Given the description of an element on the screen output the (x, y) to click on. 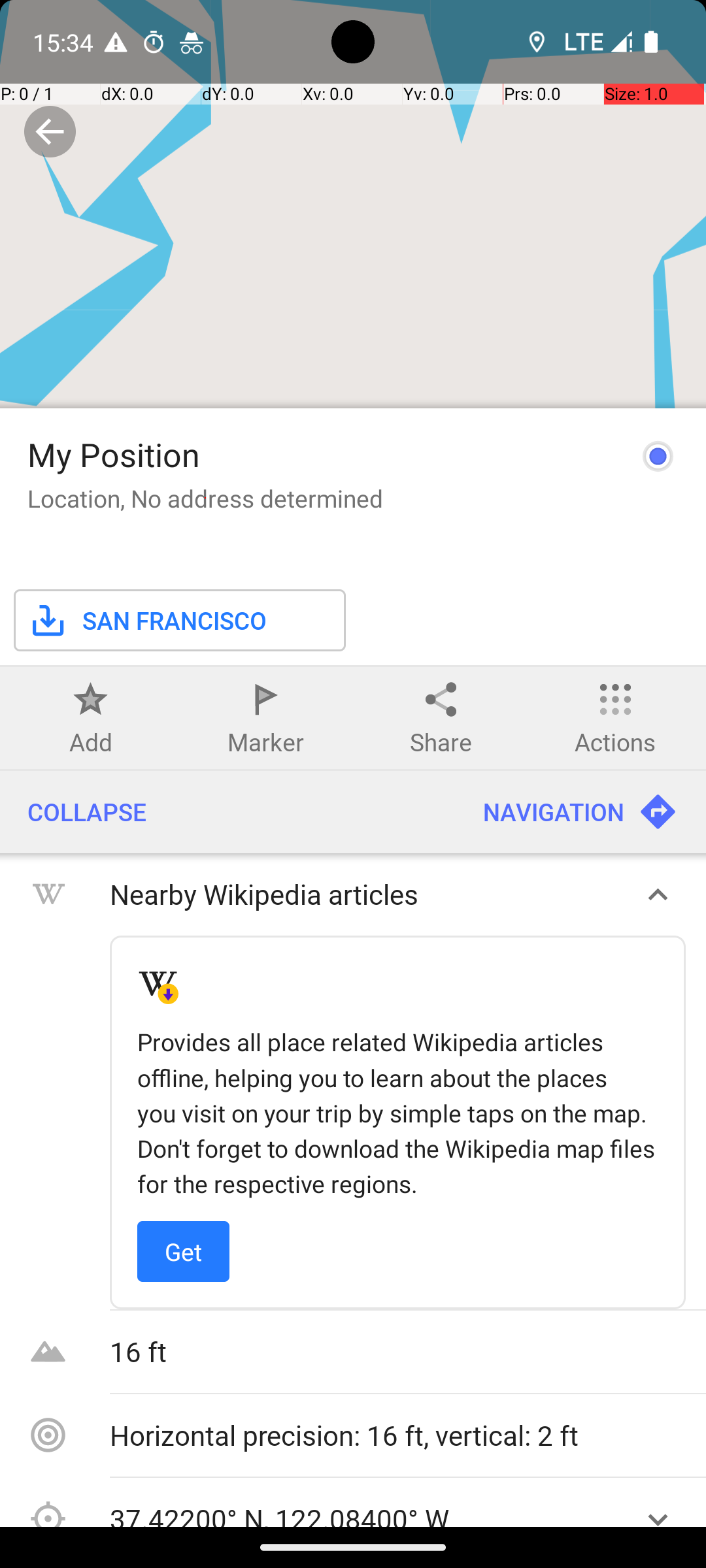
Collapse Element type: android.widget.ImageView (49, 131)
My Position Element type: android.widget.TextView (113, 454)
Location, No address determined Element type: android.widget.TextView (205, 497)
COLLAPSE Element type: android.widget.TextView (227, 811)
NAVIGATION Element type: android.widget.TextView (580, 811)
Add Element type: android.widget.TextView (90, 741)
Marker Element type: android.widget.TextView (265, 741)
Provides all place related Wikipedia articles offline, helping you to learn about the places you visit on your trip by simple taps on the map. Don't forget to download the Wikipedia map files for the respective regions. Element type: android.widget.TextView (397, 1112)
SAN FRANCISCO Element type: android.widget.TextView (146, 620)
Nearby Wikipedia articles Element type: android.widget.TextView (364, 893)
Get Element type: android.widget.TextView (183, 1251)
16 ft Element type: android.widget.TextView (399, 1351)
Horizontal precision: 16 ft, vertical: 2 ft Element type: android.widget.TextView (399, 1434)
37.42200° N, 122.08400° W Element type: android.widget.TextView (364, 1513)
